Given the description of an element on the screen output the (x, y) to click on. 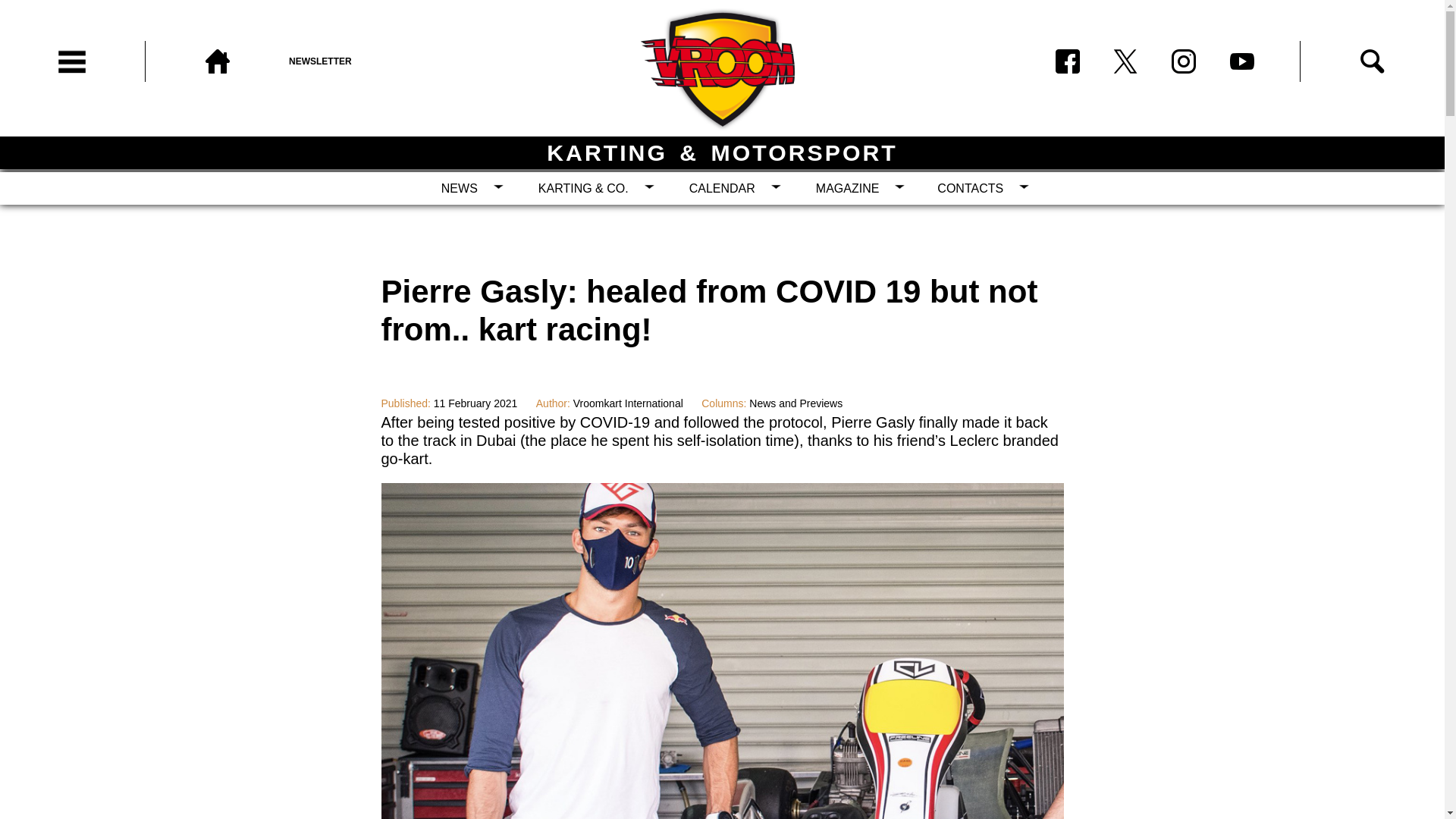
3rd party ad content (281, 432)
3rd party ad content (721, 227)
3rd party ad content (1161, 432)
NEWSLETTER (360, 60)
NEWSLETTER (360, 60)
Search (1371, 60)
